Given the description of an element on the screen output the (x, y) to click on. 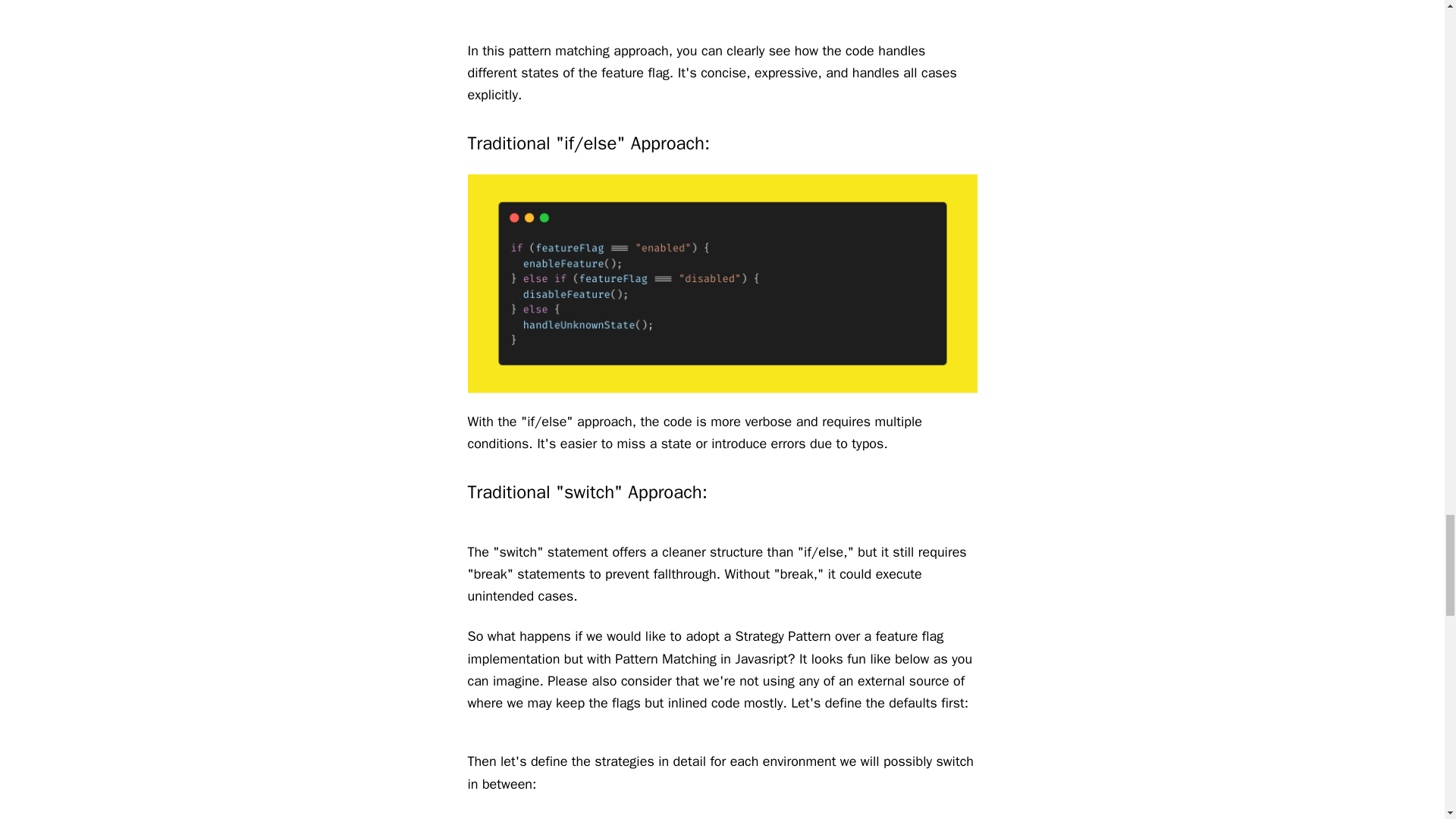
Strategy Pattern (783, 636)
